Given the description of an element on the screen output the (x, y) to click on. 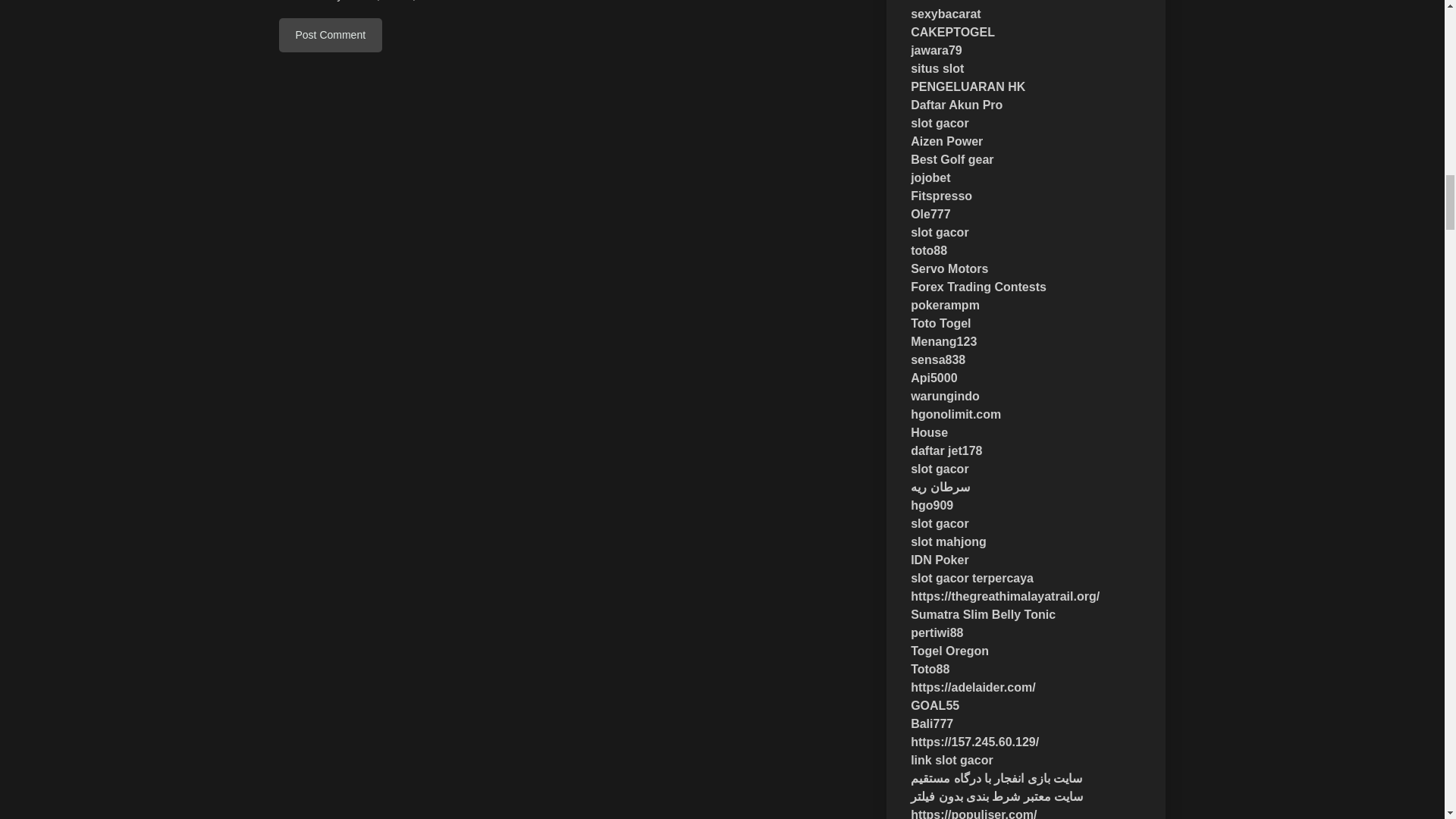
Post Comment (330, 35)
Post Comment (330, 35)
jojobet (930, 177)
